Given the description of an element on the screen output the (x, y) to click on. 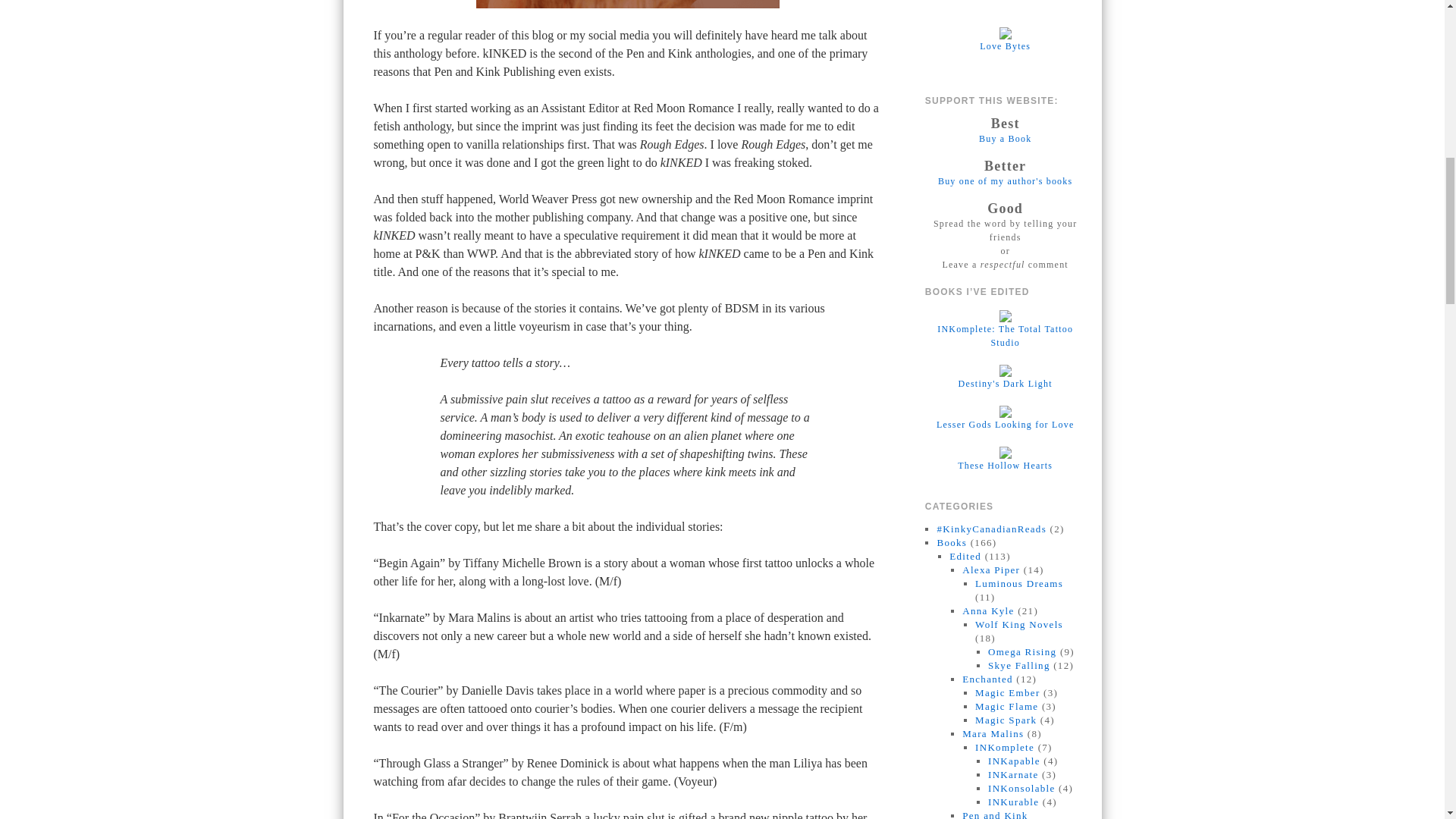
My Author's Books (1004, 181)
Buy one of my books (1004, 138)
